Given the description of an element on the screen output the (x, y) to click on. 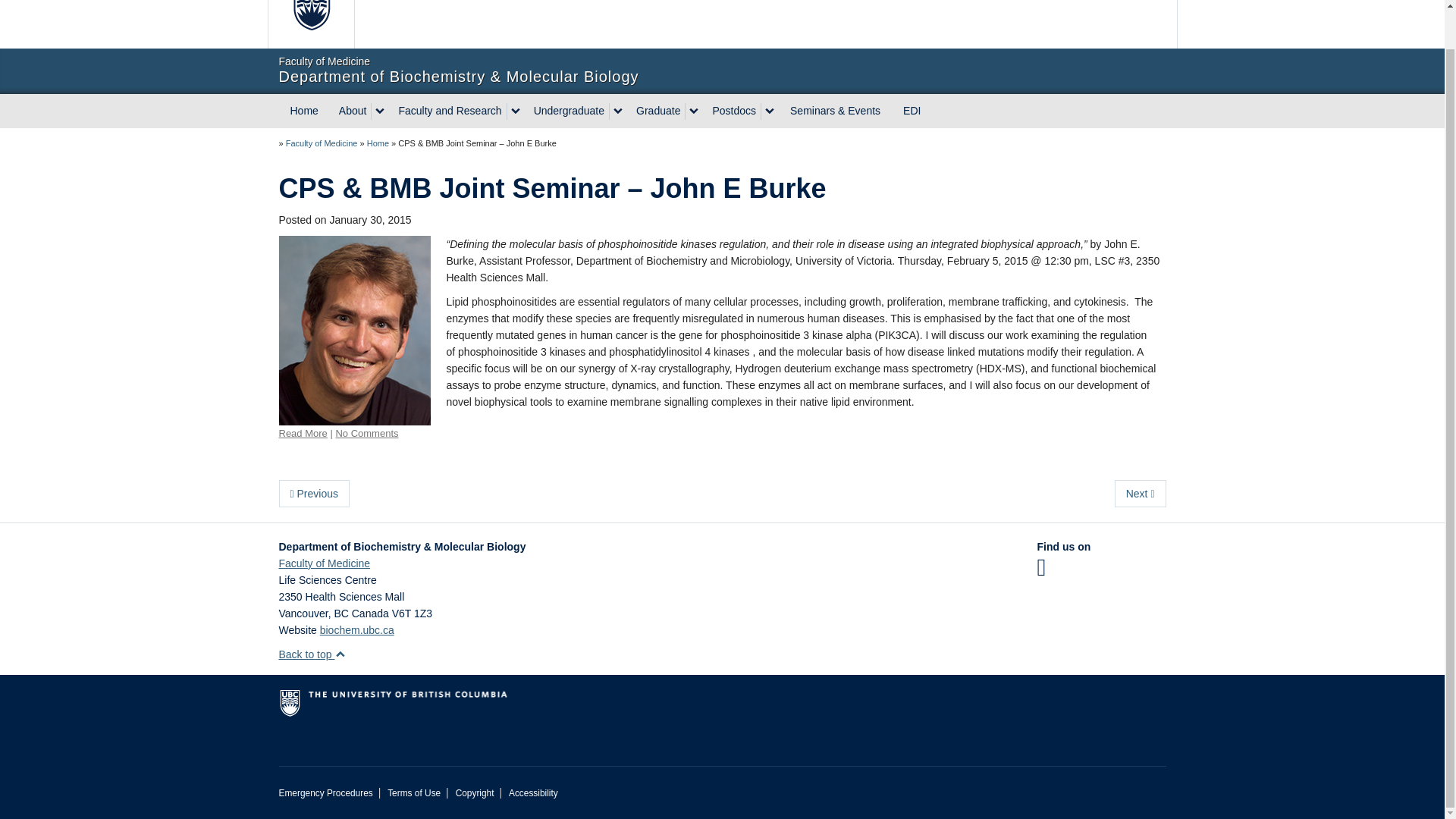
Department of Biochemistry (377, 143)
Terms of Use (414, 792)
UBC Copyright (475, 792)
About (351, 110)
The University of British Columbia (635, 24)
Home (304, 110)
Accessibility (532, 792)
Faculty and Research (447, 110)
Undergraduate (567, 110)
Emergency Procedures (325, 792)
